Given the description of an element on the screen output the (x, y) to click on. 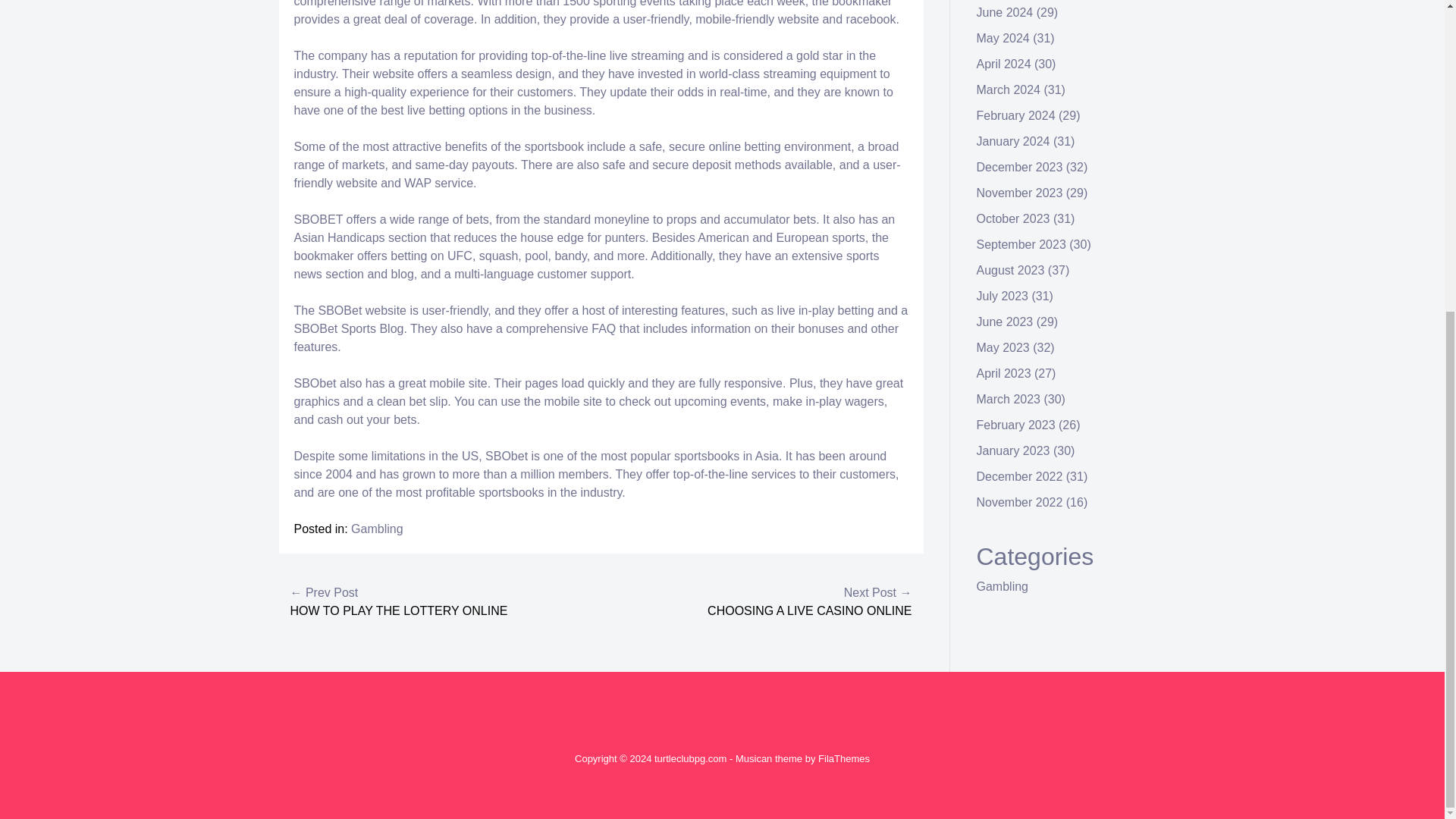
February 2023 (1015, 424)
January 2024 (1012, 141)
Gambling (1001, 585)
turtleclubpg.com (689, 758)
July 2023 (1002, 295)
May 2024 (1002, 38)
FilaThemes (843, 758)
October 2023 (1012, 218)
February 2024 (1015, 115)
January 2023 (1012, 450)
